Given the description of an element on the screen output the (x, y) to click on. 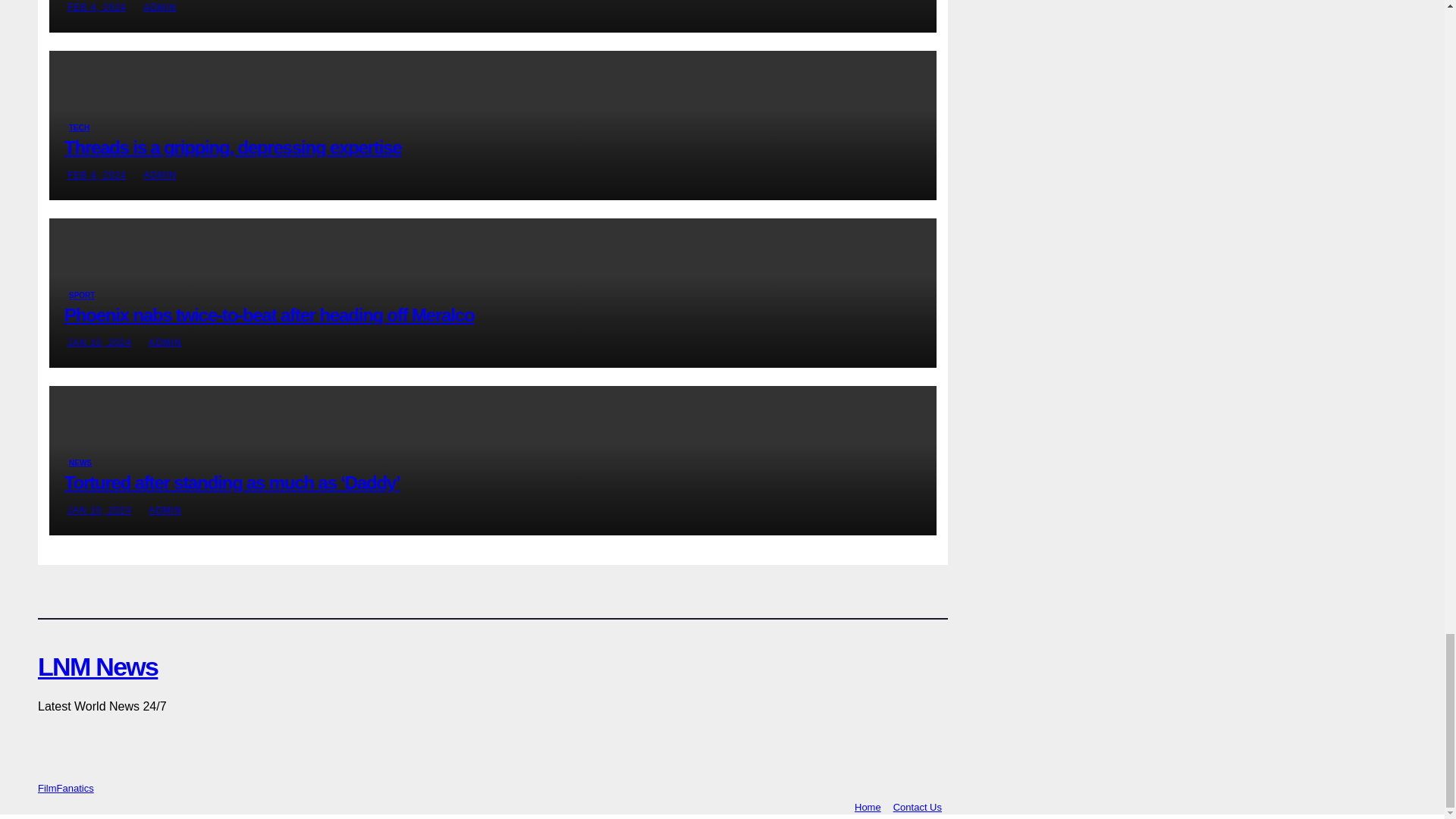
Permalink to: Threads is a gripping, depressing expertise (232, 147)
